Given the description of an element on the screen output the (x, y) to click on. 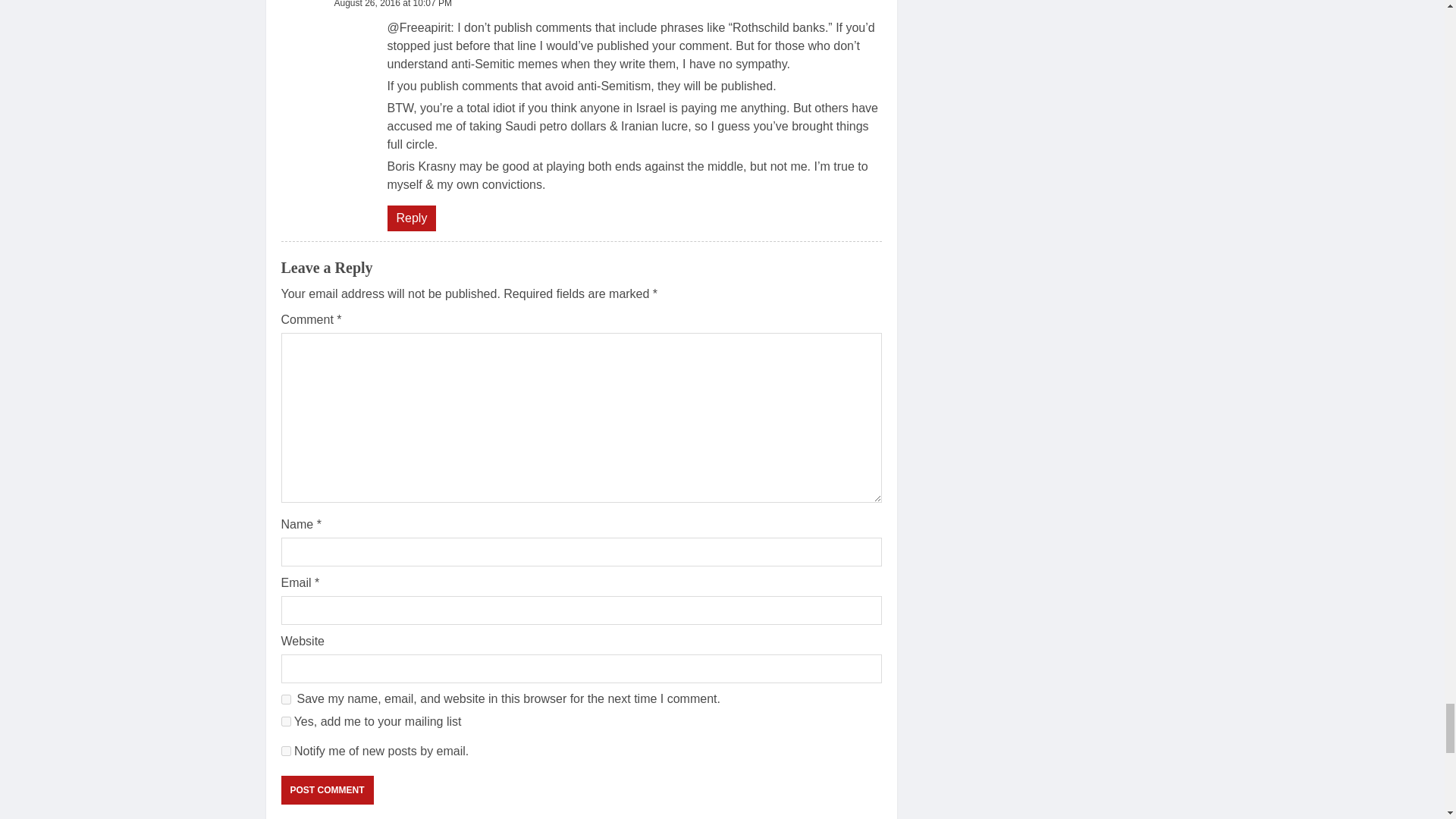
yes (285, 699)
Post Comment (326, 789)
subscribe (285, 750)
1 (285, 721)
